Given the description of an element on the screen output the (x, y) to click on. 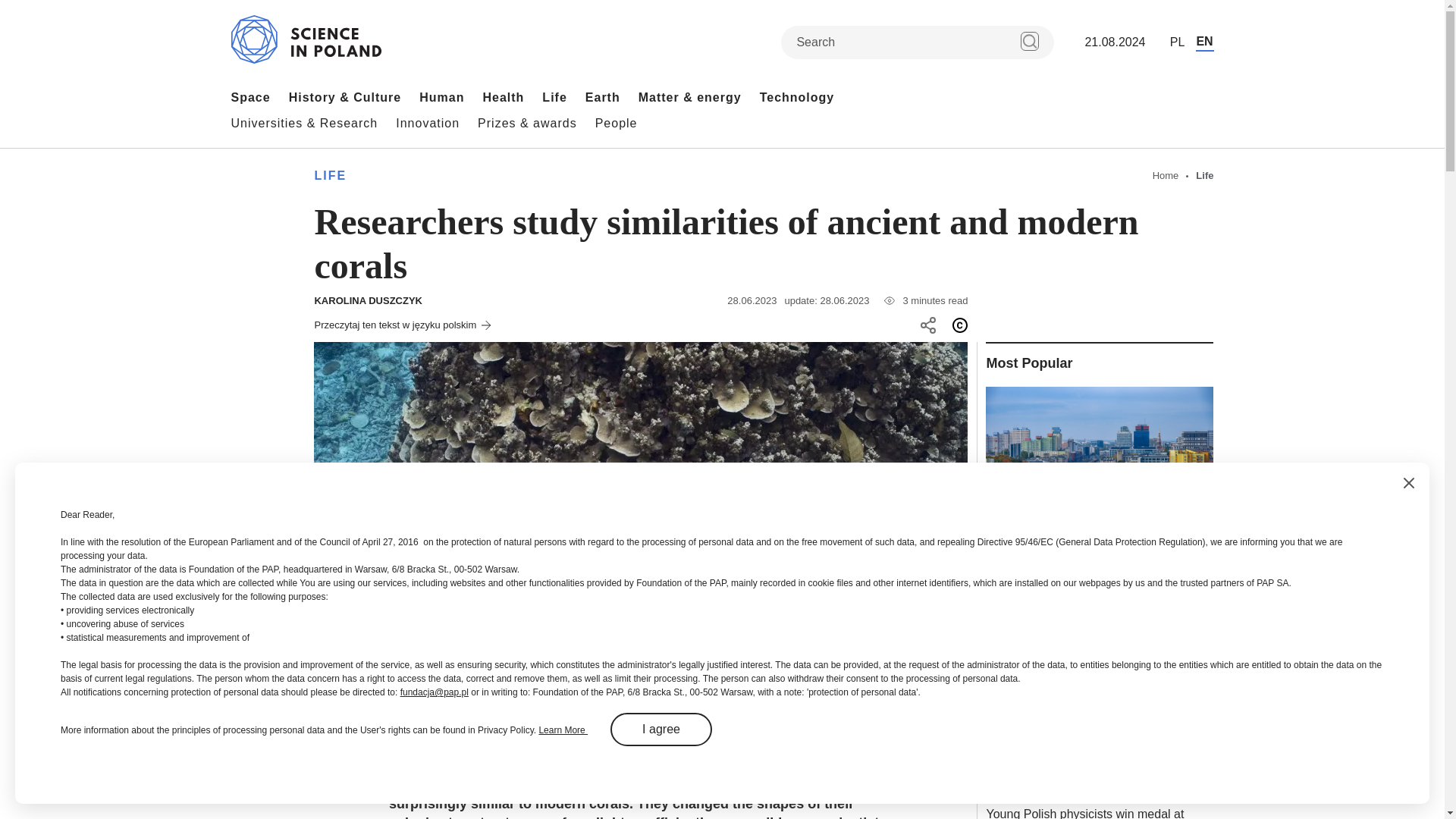
EN (1203, 42)
Life (553, 97)
Innovation (428, 123)
KAROLINA DUSZCZYK (368, 300)
Technology (797, 97)
People (616, 123)
Human (441, 97)
PL (1176, 42)
